Given the description of an element on the screen output the (x, y) to click on. 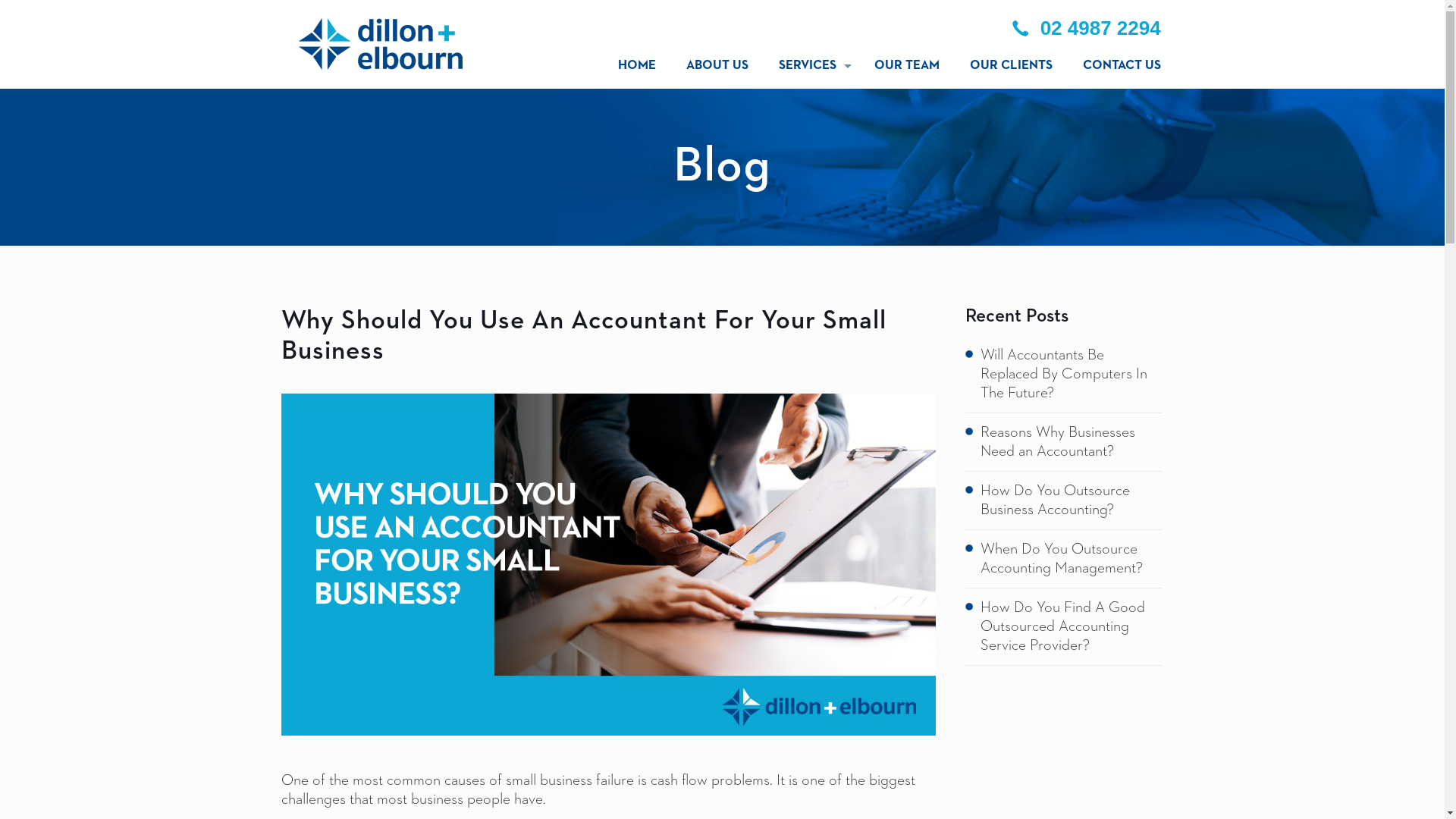
How Do You Outsource Business Accounting? Element type: text (1070, 500)
SERVICES Element type: text (811, 65)
OUR CLIENTS Element type: text (1010, 65)
Reasons Why Businesses Need an Accountant? Element type: text (1070, 442)
ABOUT US Element type: text (717, 65)
HOME Element type: text (636, 65)
When Do You Outsource Accounting Management? Element type: text (1070, 558)
Will Accountants Be Replaced By Computers In The Future? Element type: text (1070, 373)
dillon + elbourn Element type: hover (380, 43)
02 4987 2294 Element type: text (1084, 28)
OUR TEAM Element type: text (906, 65)
CONTACT US Element type: text (1114, 65)
